Given the description of an element on the screen output the (x, y) to click on. 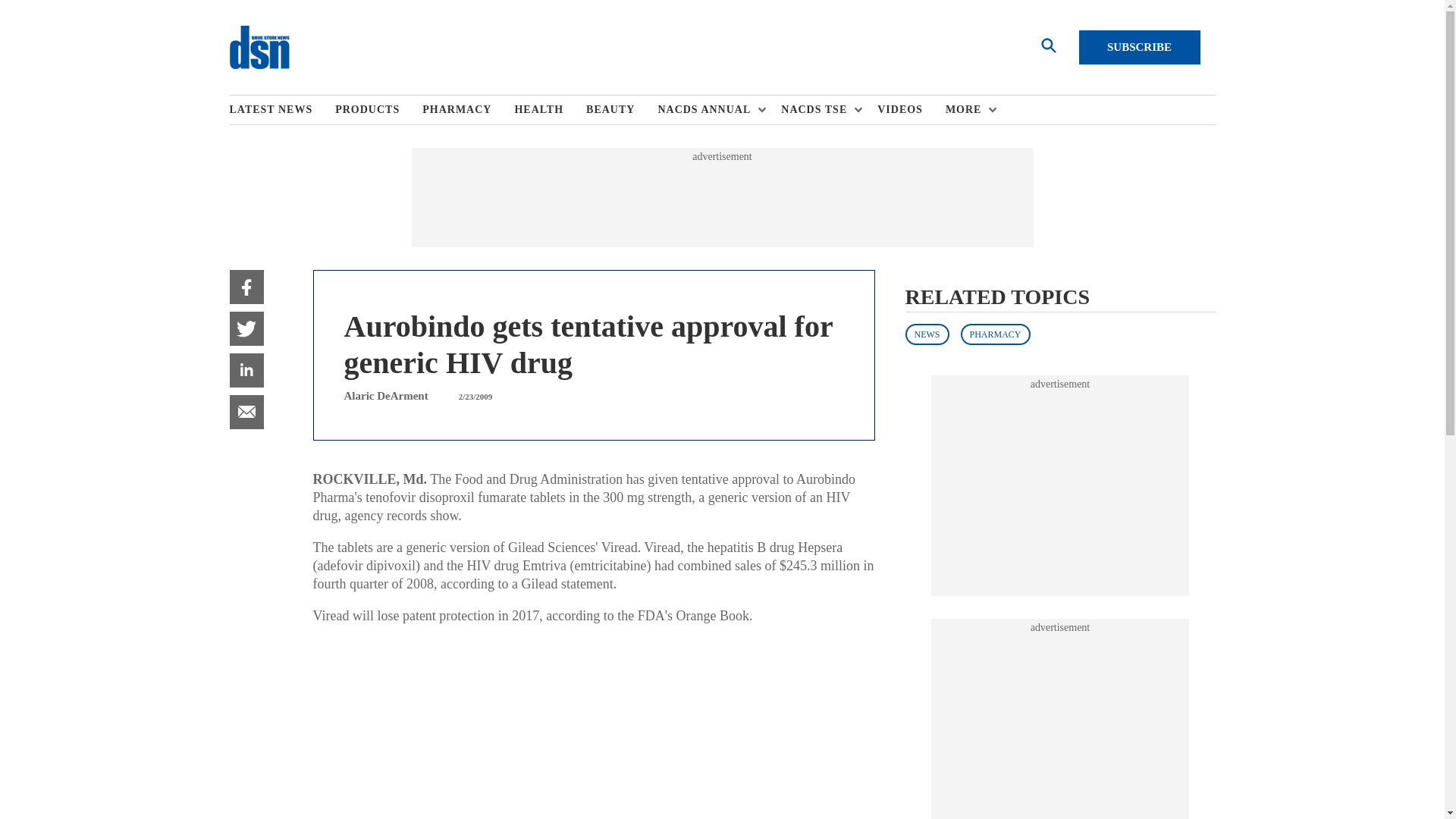
facebook (245, 286)
MORE (967, 109)
VIDEOS (910, 109)
NACDS TSE (817, 109)
3rd party ad content (721, 197)
facebook (245, 286)
3rd party ad content (1059, 726)
linkedIn (245, 369)
SUBSCRIBE (1138, 47)
PRODUCTS (378, 109)
